Given the description of an element on the screen output the (x, y) to click on. 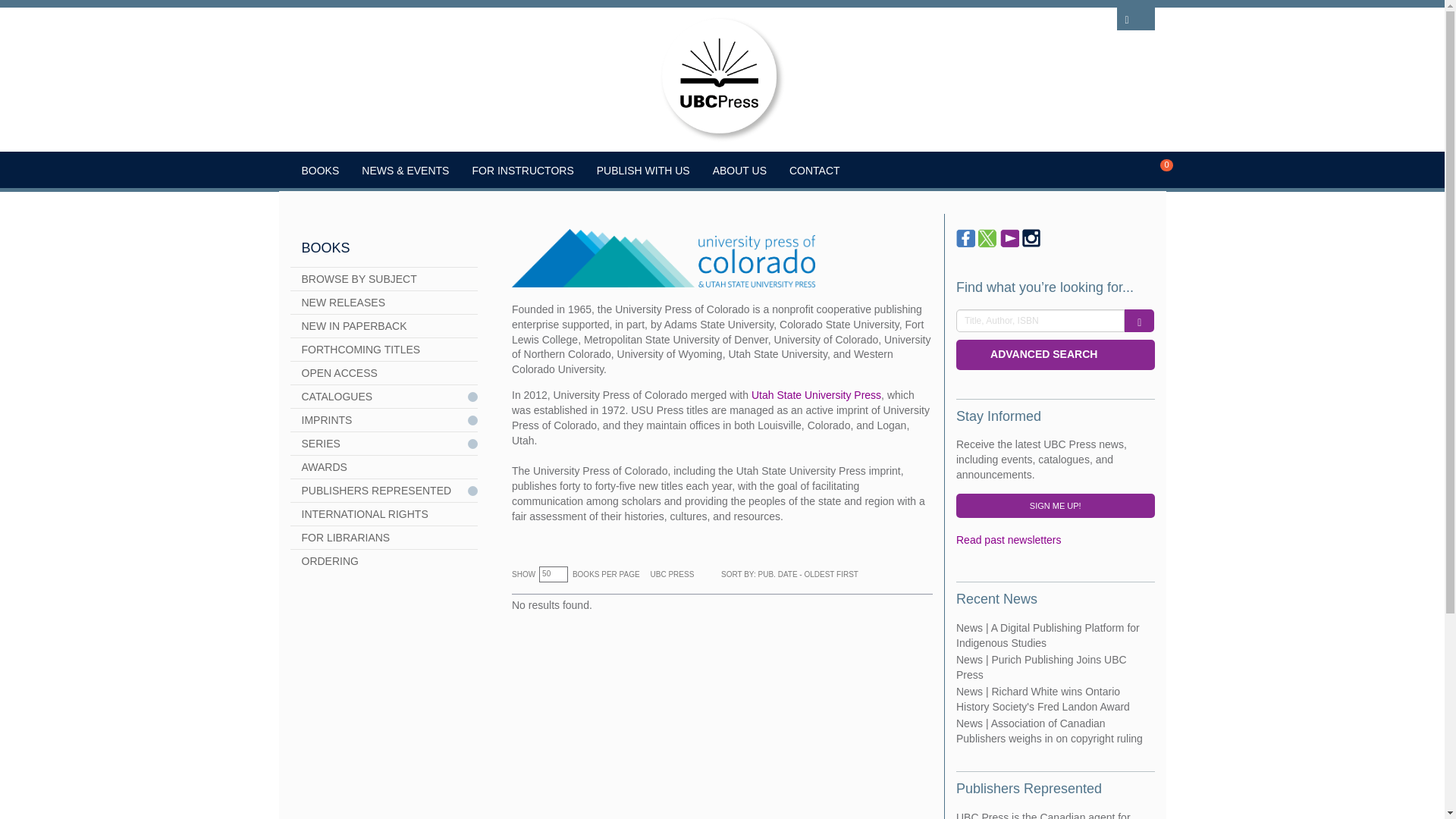
Twitter page (987, 238)
Facebook page (965, 238)
FOR INSTRUCTORS (522, 170)
BOOKS (319, 170)
Instagram page (1031, 238)
YouTube page (1009, 238)
